Given the description of an element on the screen output the (x, y) to click on. 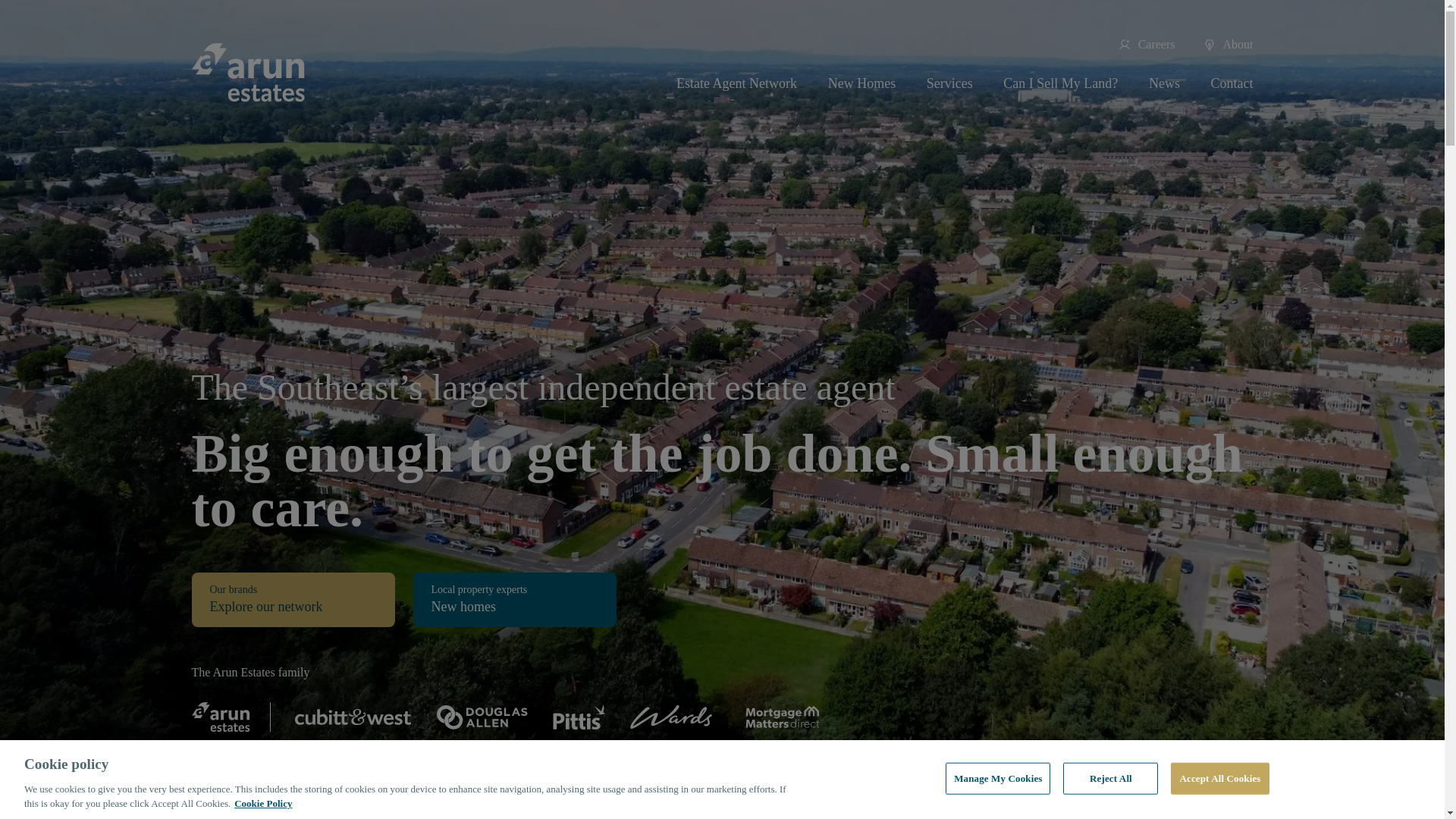
Estate Agent Network (736, 83)
About (1227, 44)
Services (949, 83)
New Homes (861, 83)
Can I Sell My Land? (1060, 83)
Contact (1230, 83)
Careers (1146, 44)
News (1163, 83)
